Given the description of an element on the screen output the (x, y) to click on. 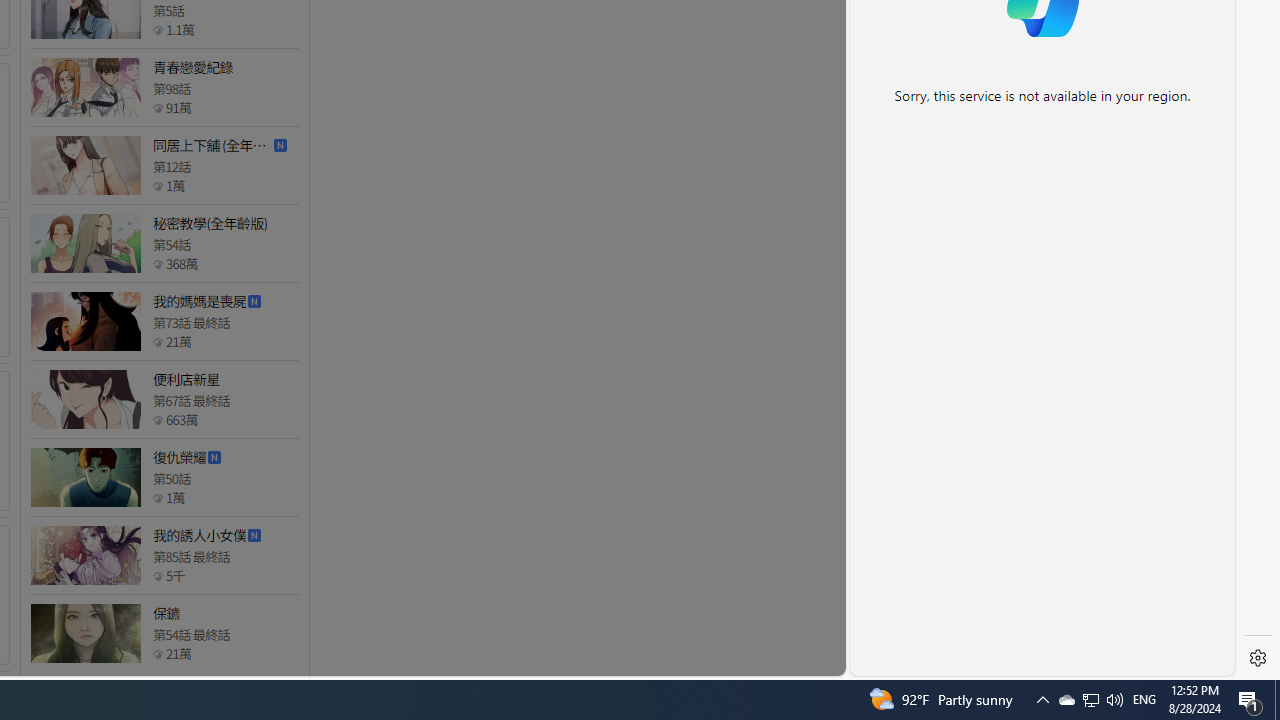
Class: epicon_starpoint (158, 653)
Settings (1258, 658)
Class: thumb_img (85, 633)
